Given the description of an element on the screen output the (x, y) to click on. 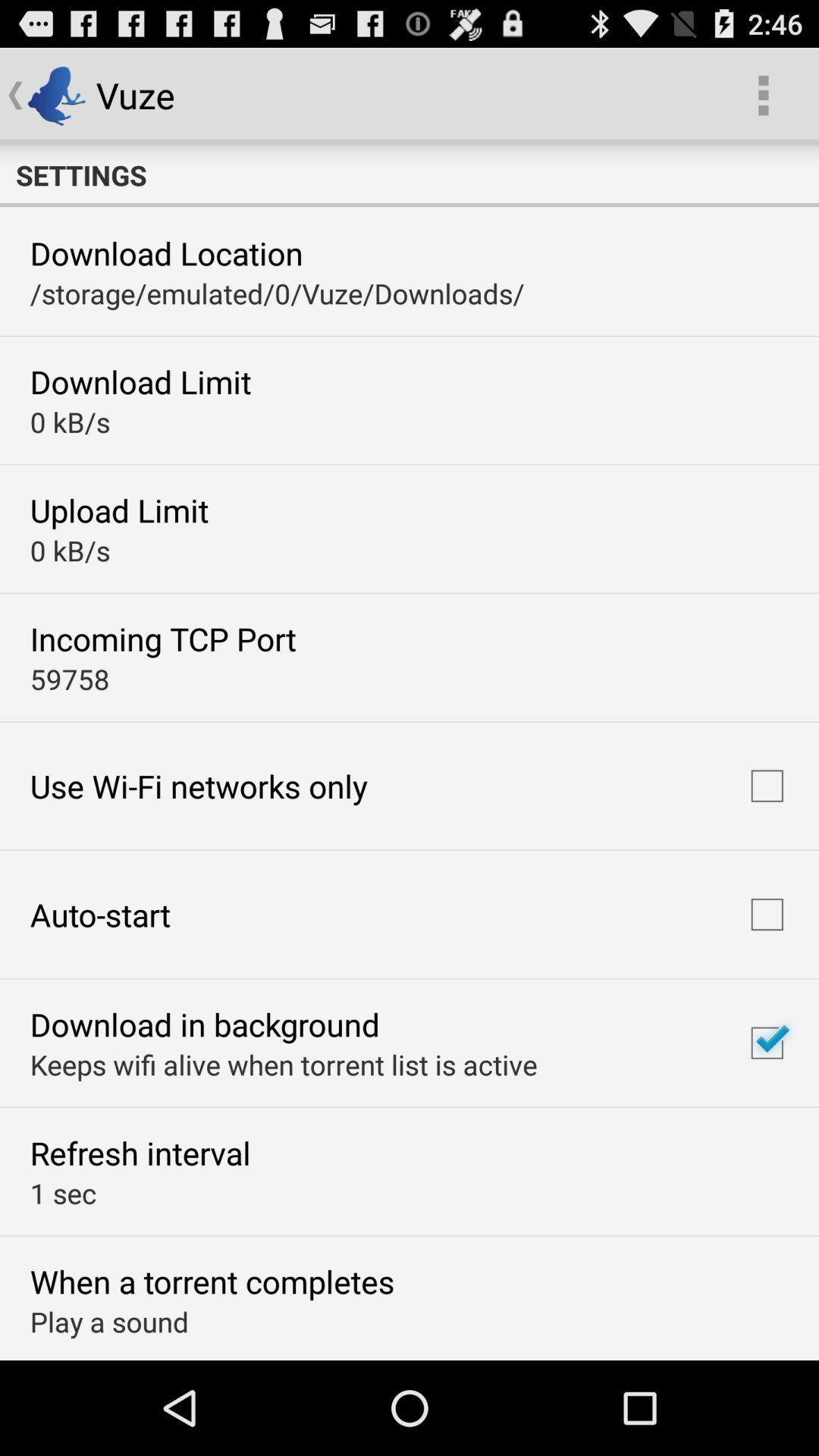
launch play a sound item (109, 1321)
